Given the description of an element on the screen output the (x, y) to click on. 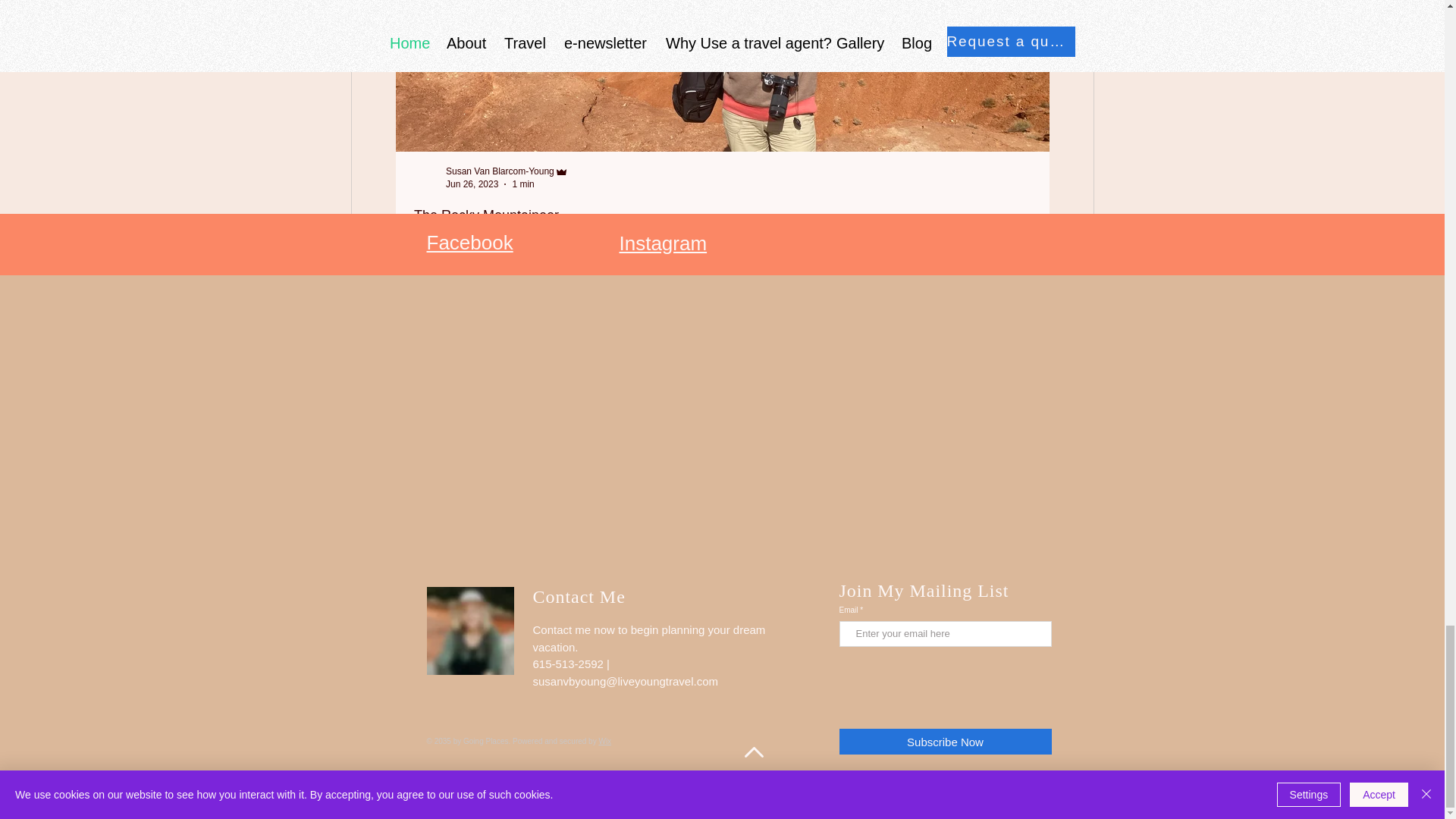
0 (1018, 300)
Susan Van Blarcom-Young (1122, 300)
1 min (499, 171)
Susan Van Blarcom-Young (523, 183)
The Rocky Mountaineer (1153, 171)
May 29, 2023 (721, 215)
Wix (1126, 183)
Facebook (604, 741)
Instagram (469, 241)
